Given the description of an element on the screen output the (x, y) to click on. 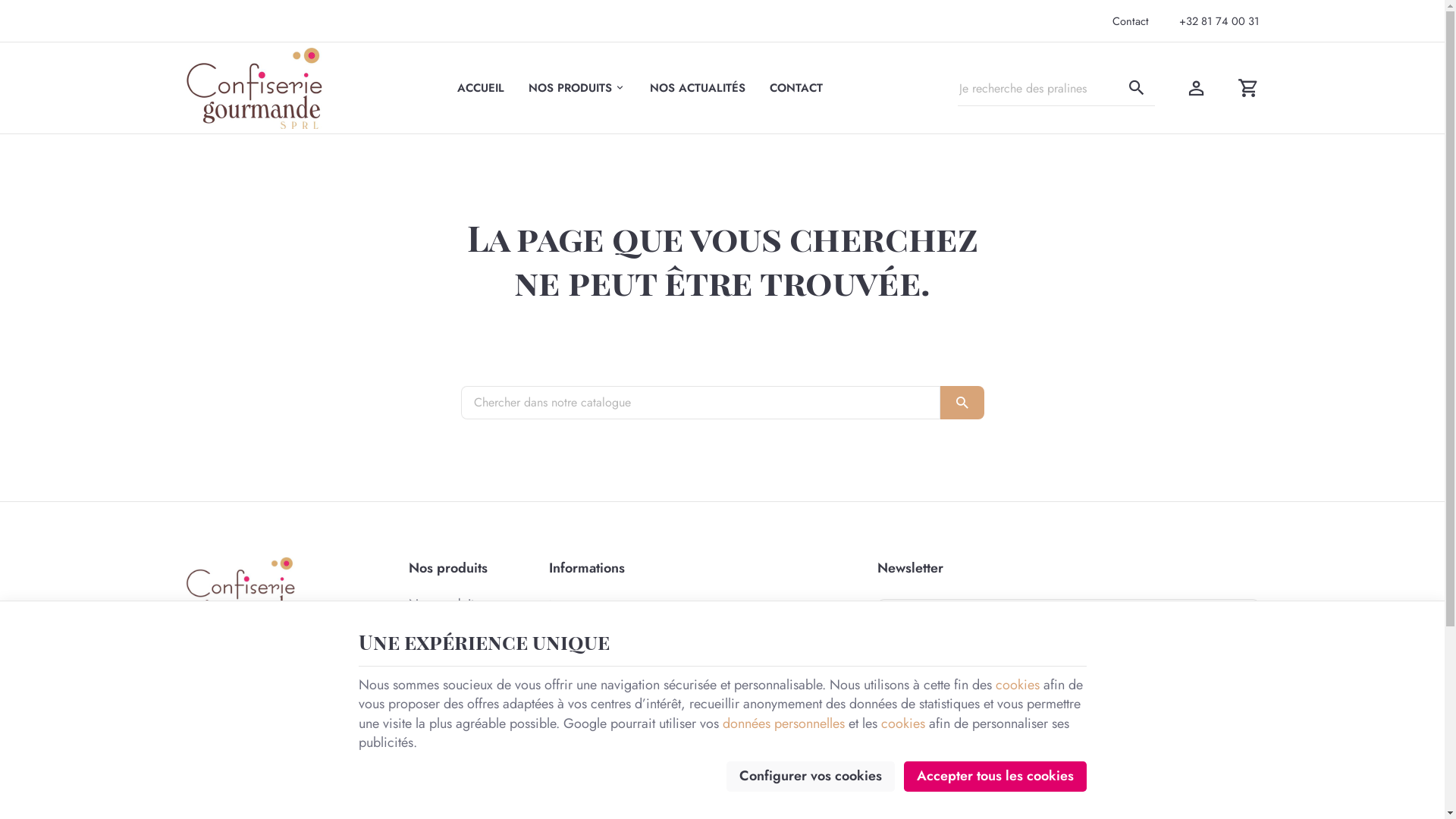
+32 81 74 00 31 Element type: text (1219, 21)
NOS PRODUITS Element type: text (576, 87)
ACCUEIL Element type: text (480, 87)
Notre entreprise Element type: text (670, 605)
Accepter tous les cookies Element type: text (994, 776)
cookies Element type: text (1016, 684)
+32 (0) 81 74 00 31 Element type: text (270, 702)
Configurer vos cookies Element type: text (810, 776)
Confiserie Gourmande Element type: hover (239, 588)
OK Element type: text (961, 402)
Voir mon panier Element type: hover (1248, 87)
Contactez-nous Element type: text (670, 752)
CONTACT Element type: text (795, 87)
Politique d'avis Element type: text (670, 678)
Nos produits Element type: text (469, 603)
Confiserie Gourmande Element type: hover (253, 87)
Frais de livraison Element type: text (670, 654)
Contact Element type: text (1130, 21)
cookies Element type: text (903, 723)
Mon compte Element type: hover (1196, 87)
Confiserie Gourmande Element type: hover (253, 87)
